Given the description of an element on the screen output the (x, y) to click on. 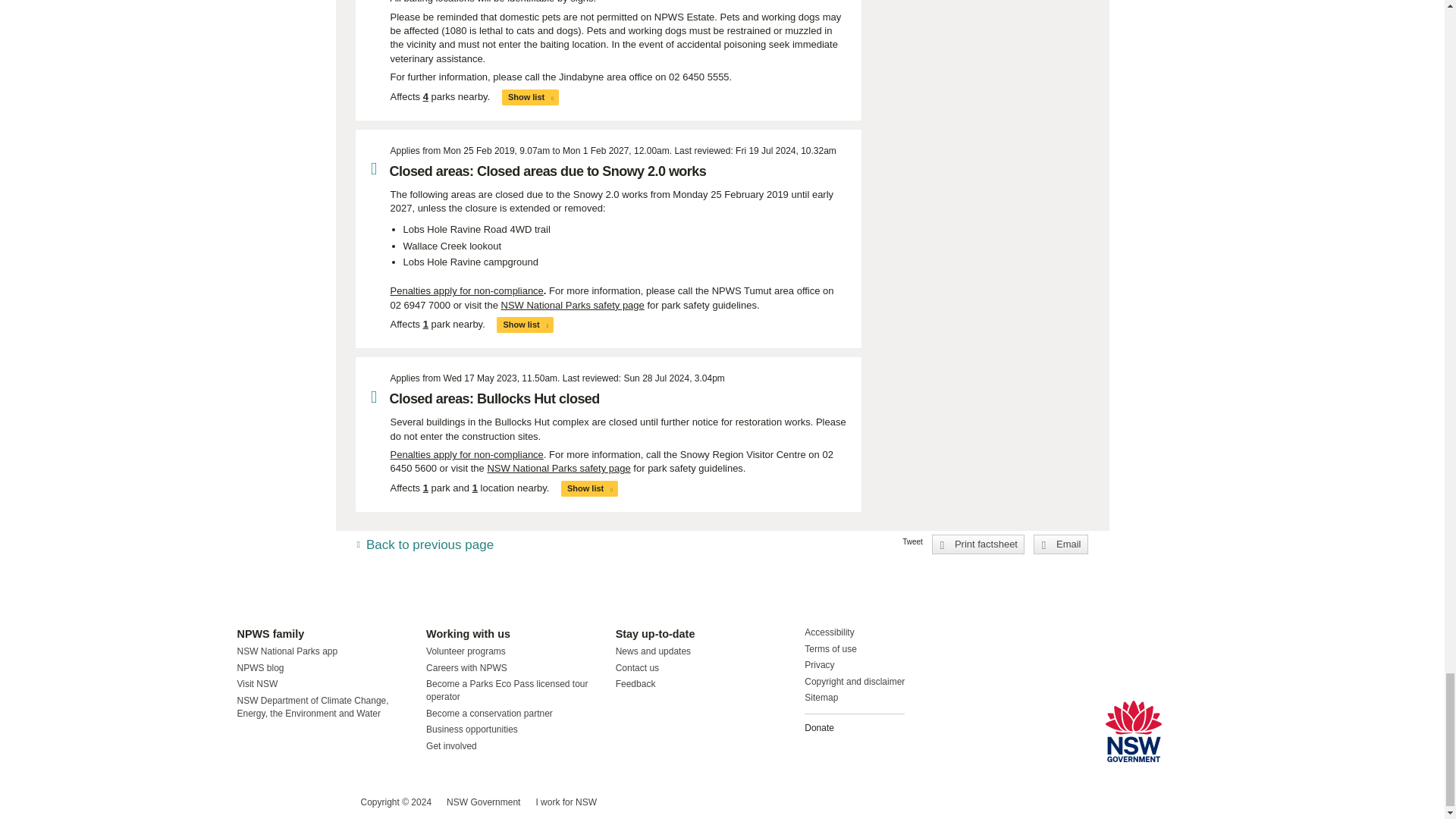
Visit NSW National Parks on Instagram (283, 802)
Visit NSW National Parks on Youtube (315, 802)
Print-friendly version of these webpages (978, 544)
New South Wales Government (1133, 731)
Visit NSW National Parks on Facebook (249, 802)
